Given the description of an element on the screen output the (x, y) to click on. 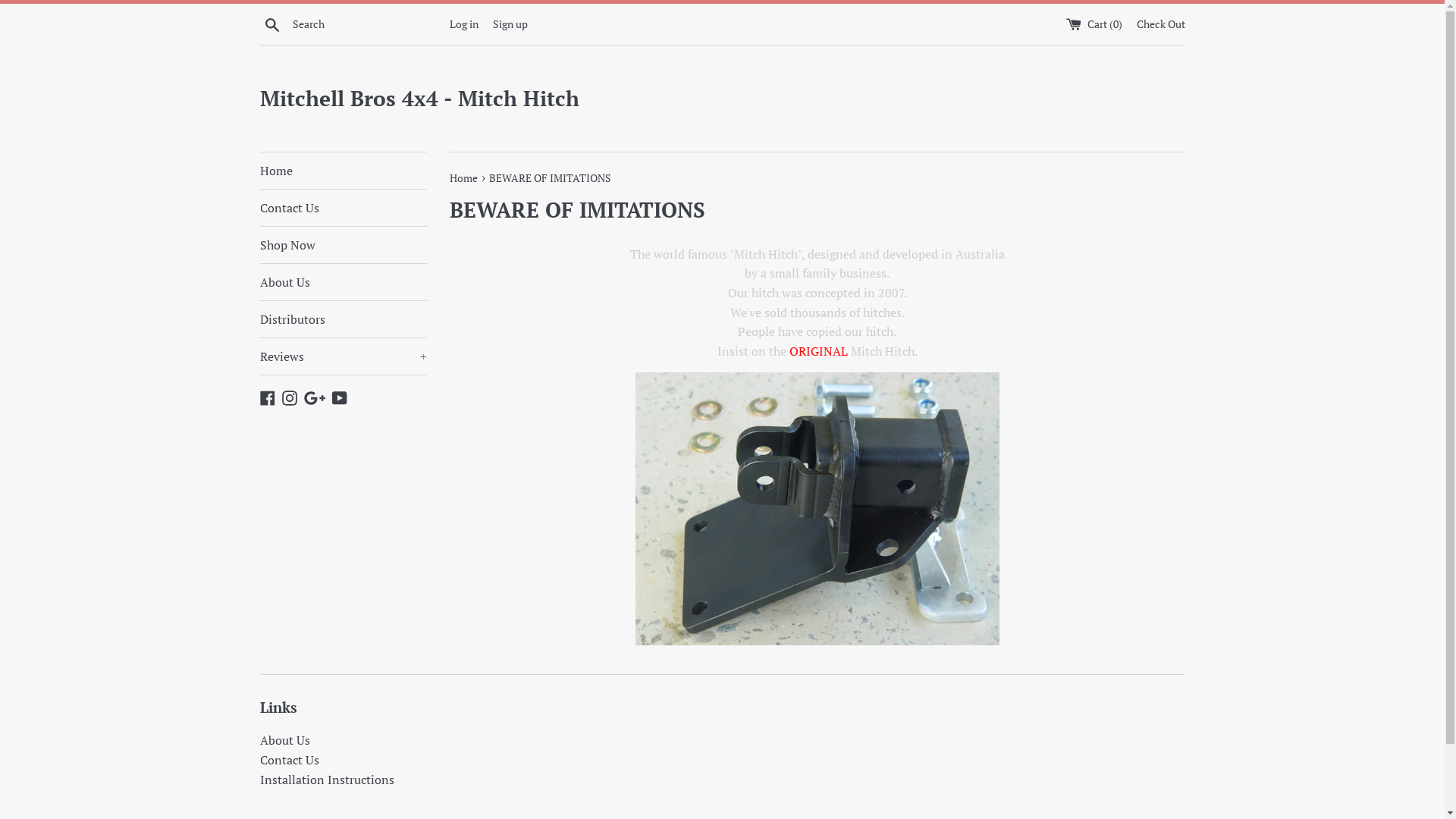
Mitchell Bros 4x4 - Mitch Hitch Element type: text (721, 97)
Instagram Element type: text (289, 396)
Shop Now Element type: text (342, 244)
About Us Element type: text (284, 739)
Contact Us Element type: text (342, 207)
Installation Instructions Element type: text (326, 779)
About Us Element type: text (342, 281)
Distributors Element type: text (342, 319)
Home Element type: text (463, 177)
Contact Us Element type: text (288, 759)
Search Element type: text (271, 23)
Facebook Element type: text (266, 396)
YouTube Element type: text (339, 396)
Home Element type: text (342, 170)
Sign up Element type: text (509, 23)
Reviews
+ Element type: text (342, 356)
Log in Element type: text (462, 23)
Check Out Element type: text (1159, 23)
Cart (0) Element type: text (1095, 23)
Google Plus Element type: text (313, 396)
